Given the description of an element on the screen output the (x, y) to click on. 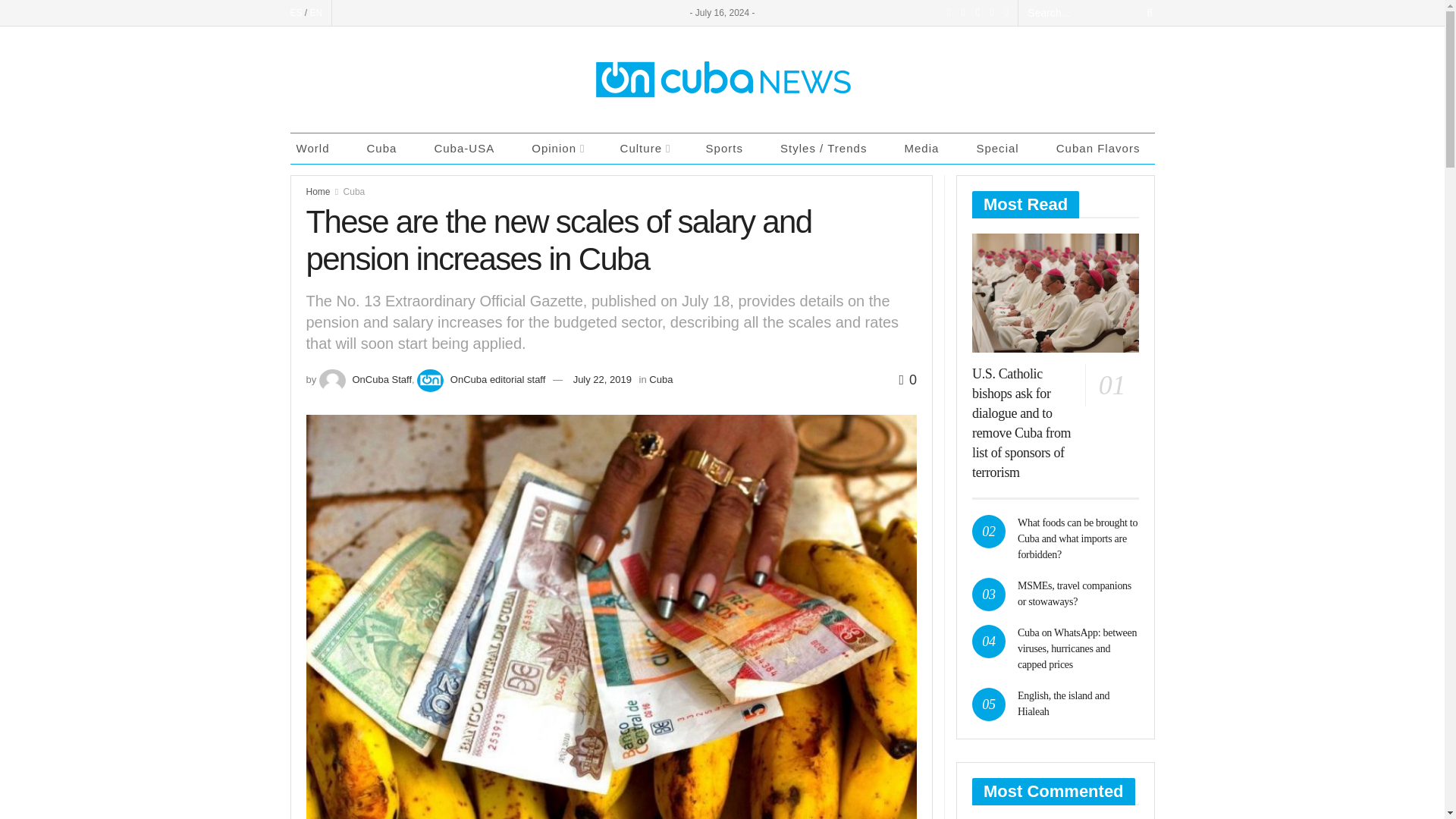
EN (316, 12)
Opinion (560, 148)
Culture (648, 148)
Sports (727, 148)
Media (925, 148)
ES (295, 12)
Cuban Flavors (1101, 148)
Cuba (384, 148)
Cuba-USA (468, 148)
World (316, 148)
Special (1000, 148)
